Given the description of an element on the screen output the (x, y) to click on. 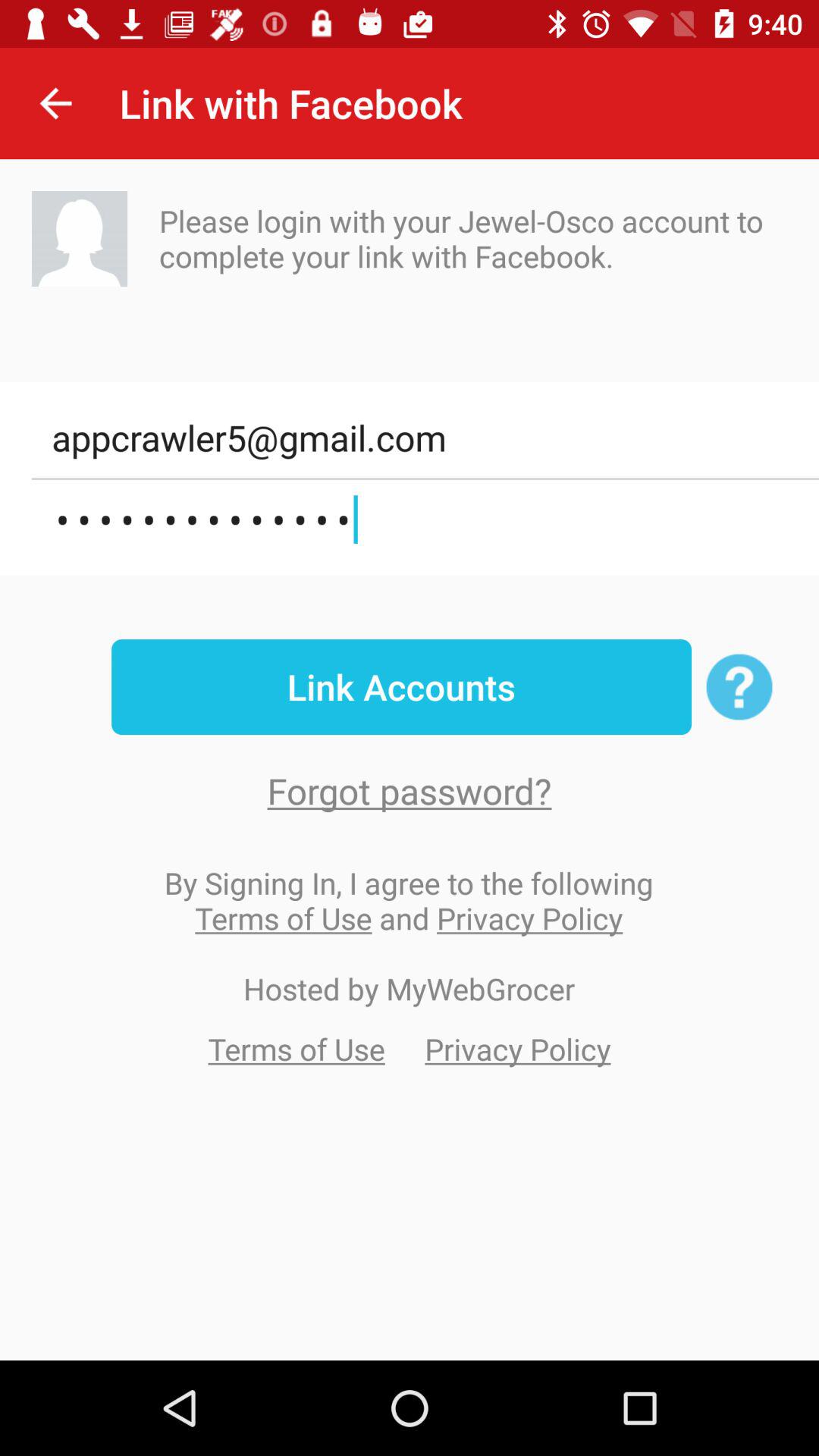
scroll until link accounts icon (401, 686)
